Given the description of an element on the screen output the (x, y) to click on. 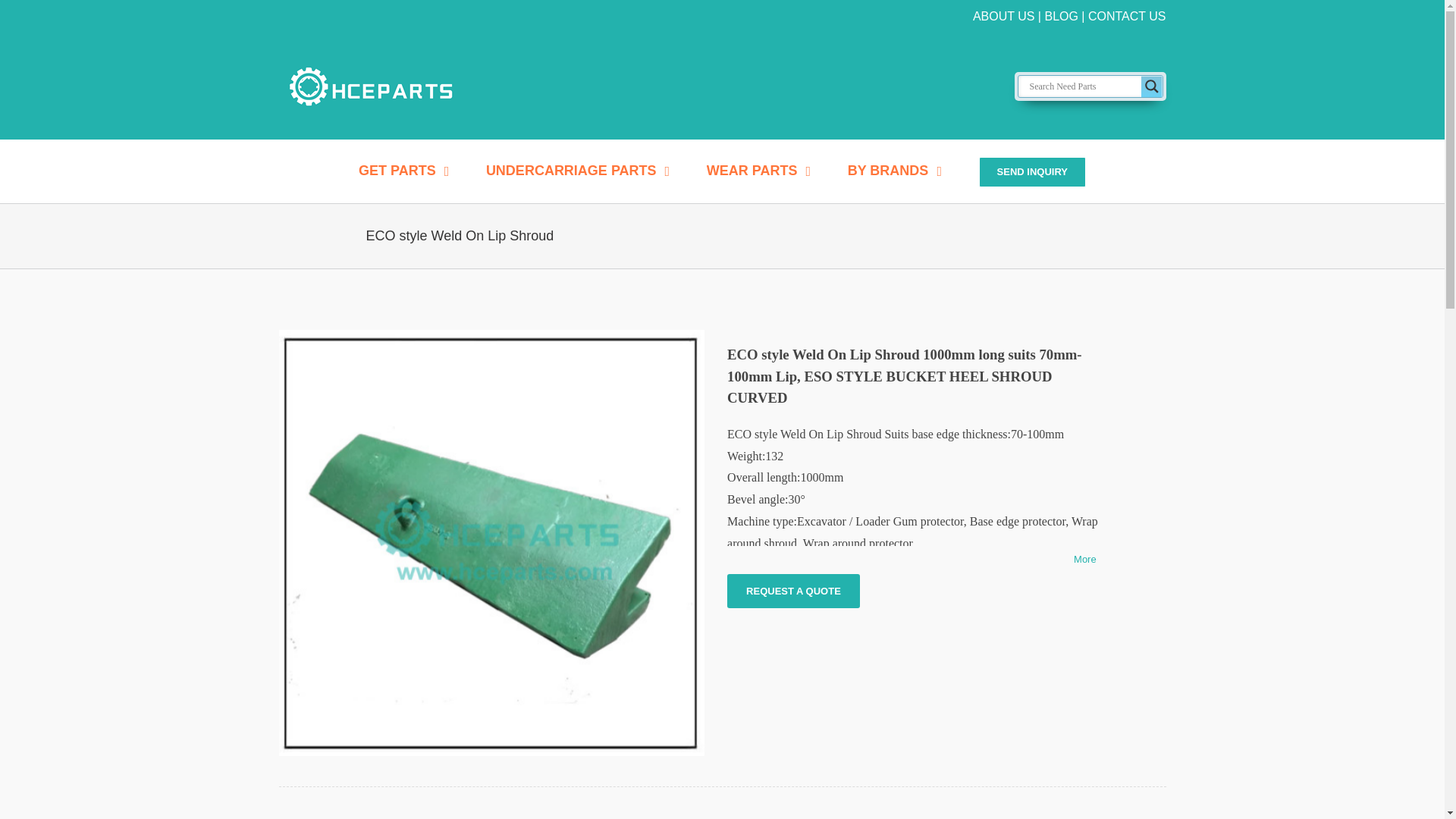
CONTACT US (1126, 15)
BLOG (1060, 15)
ABOUT US (1003, 15)
GET PARTS (403, 170)
